Given the description of an element on the screen output the (x, y) to click on. 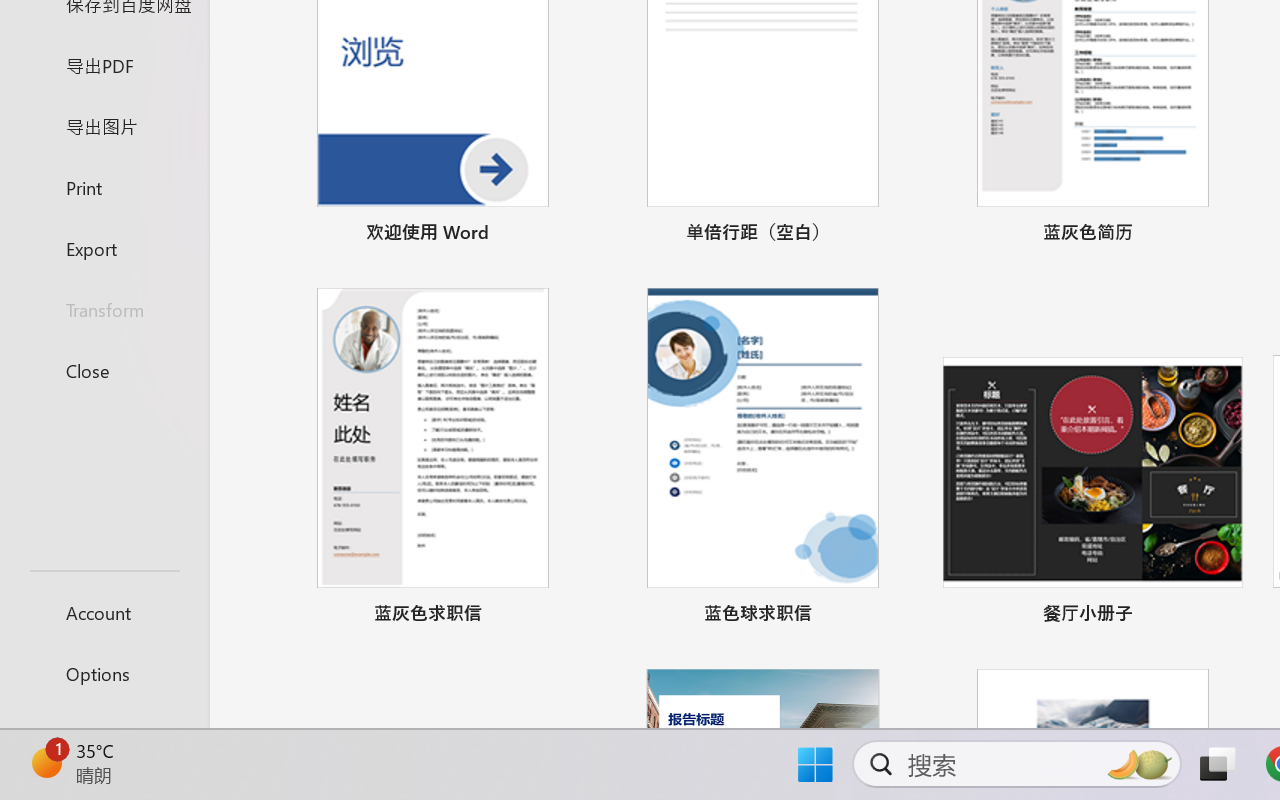
Print (104, 186)
Account (104, 612)
Export (104, 248)
Pin to list (1223, 616)
Transform (104, 309)
